Given the description of an element on the screen output the (x, y) to click on. 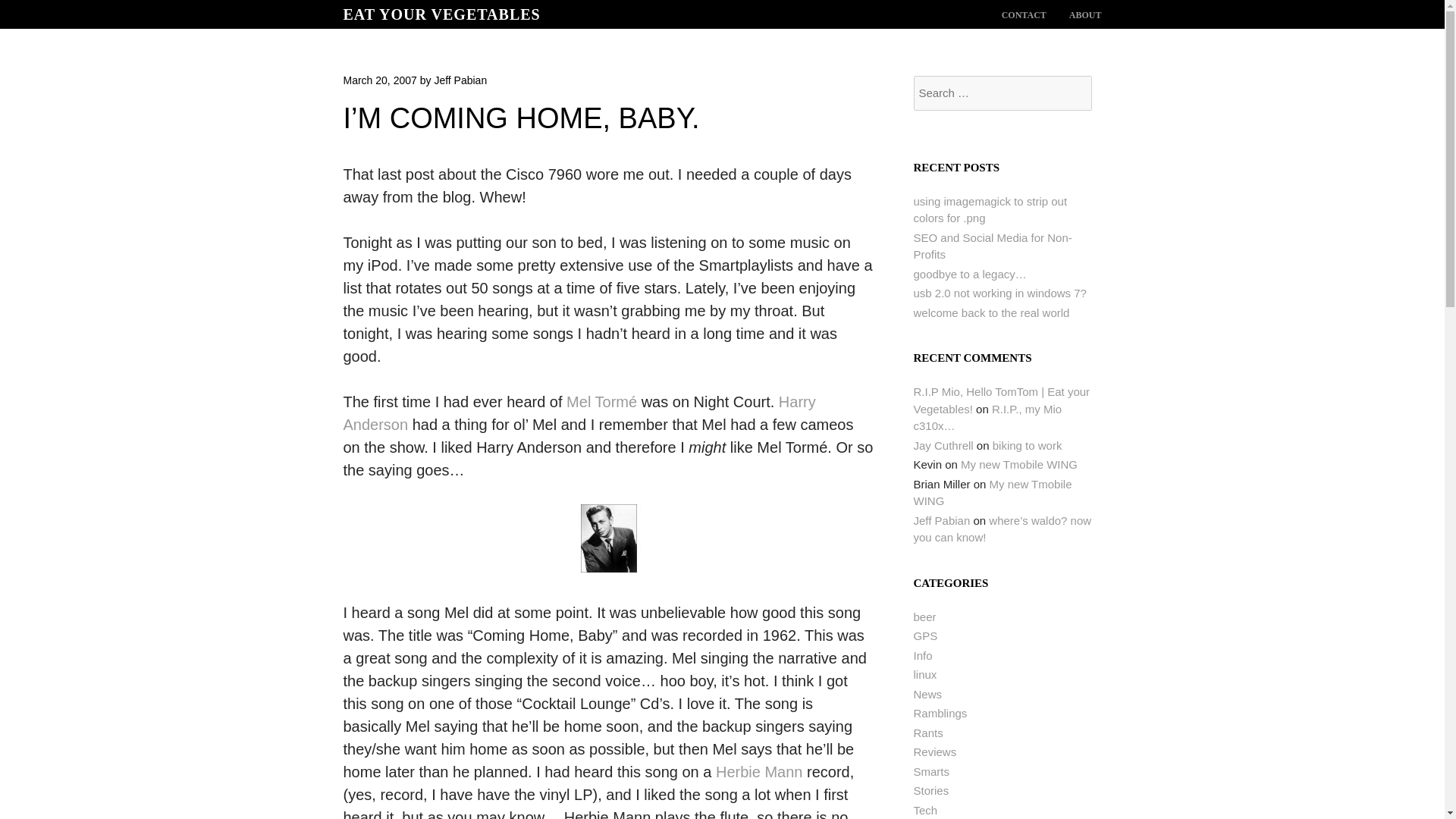
beer (924, 616)
using imagemagick to strip out colors for .png (989, 209)
Harry Anderson (578, 413)
View all posts by Jeff Pabian (459, 80)
GPS (924, 635)
EAT YOUR VEGETABLES (441, 13)
Herbie Mann (759, 771)
ABOUT (1085, 14)
Jeff Pabian (940, 520)
SKIP TO CONTENT (1023, 14)
